Given the description of an element on the screen output the (x, y) to click on. 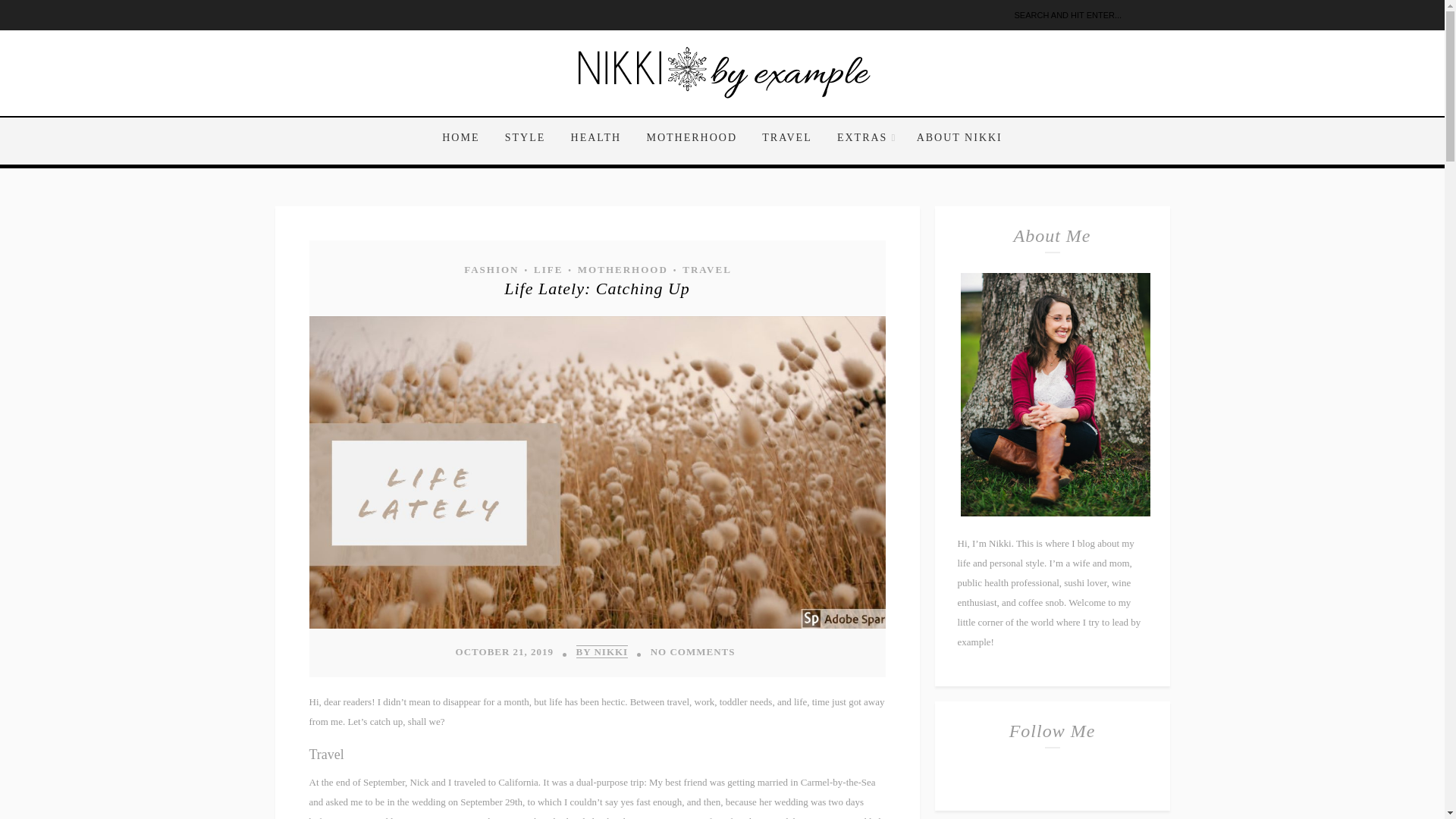
HEALTH (596, 138)
LIFE (547, 269)
Permanent (596, 624)
FASHION (490, 269)
MOTHERHOOD (691, 138)
Permanent (596, 288)
STYLE (525, 138)
ABOUT NIKKI (954, 138)
EXTRAS (863, 138)
TRAVEL (786, 138)
HOME (466, 138)
Search and hit enter... (1088, 15)
